Given the description of an element on the screen output the (x, y) to click on. 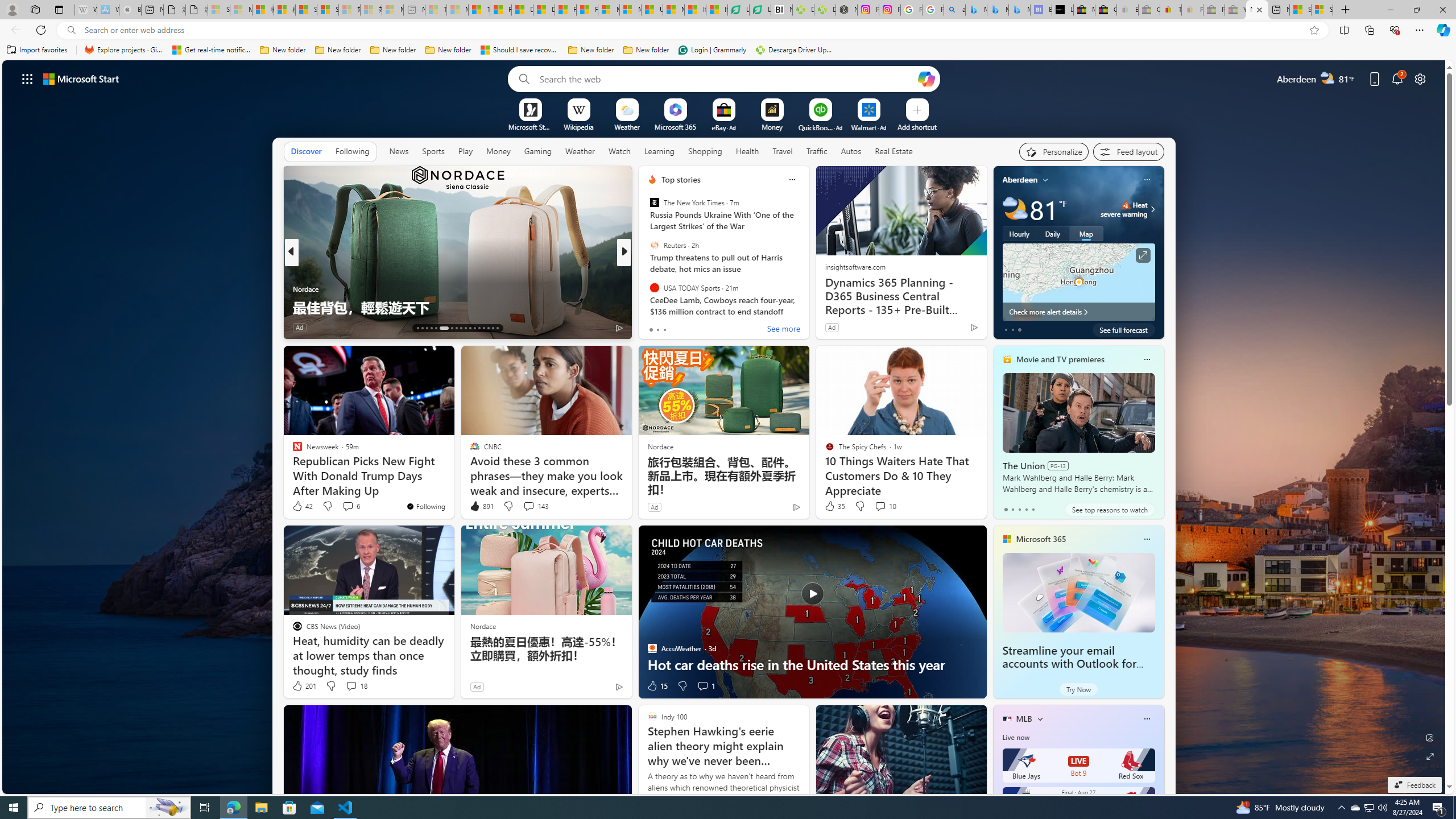
tab-2 (1019, 509)
Larger map  (1077, 282)
Map (1085, 233)
tab-1 (1012, 509)
Yard, Garden & Outdoor Living - Sleeping (1235, 9)
Facing the Perfect Storm: The Lethal Impact of Extreme Heat (807, 298)
View comments 7 Comment (698, 327)
View comments 460 Comment (709, 327)
View comments 6 Comment (347, 505)
BuzzFeed (647, 288)
35 Like (834, 505)
Microsoft start (81, 78)
